Given the description of an element on the screen output the (x, y) to click on. 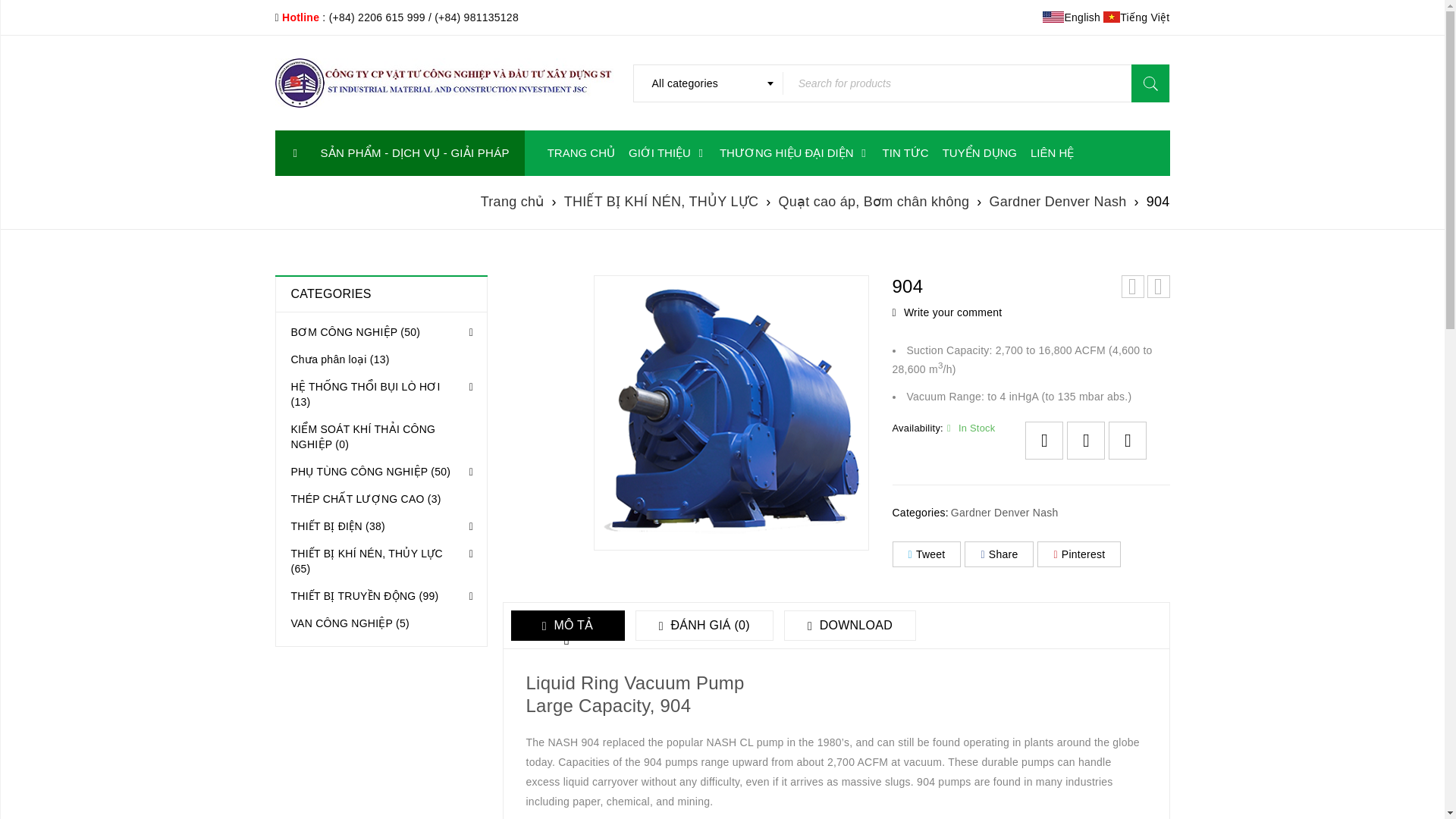
Search (1150, 82)
BoxShop (443, 82)
15. 904 Icon Image (729, 412)
All categories (707, 82)
Search (1150, 82)
